Given the description of an element on the screen output the (x, y) to click on. 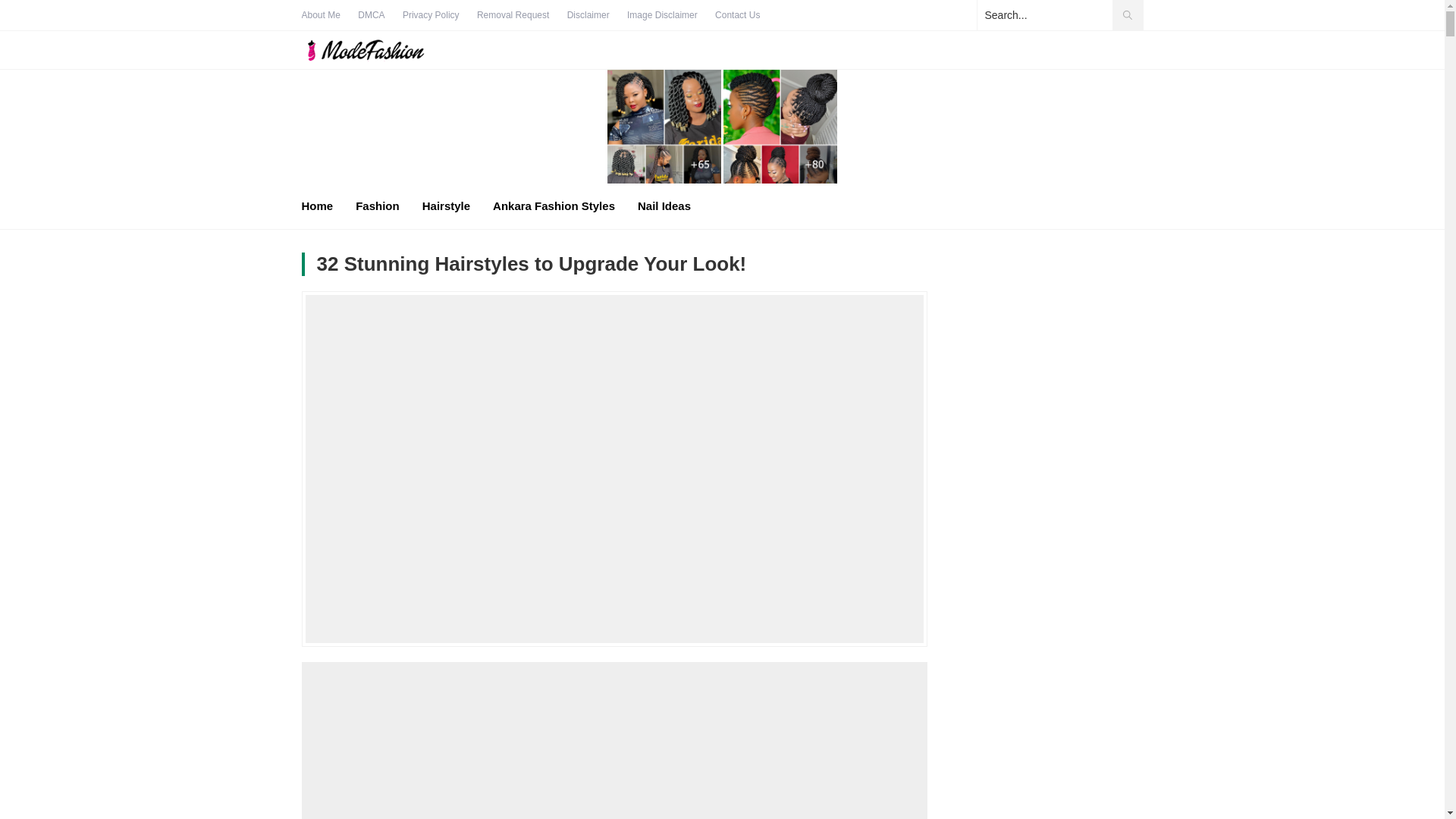
Image Disclaimer (662, 14)
Fashion (376, 206)
Disclaimer (588, 14)
Contact Us (737, 14)
About Me (320, 14)
Nail Ideas (663, 206)
Ankara Fashion Styles (553, 206)
Search... (1058, 15)
Hairstyle (446, 206)
Removal Request (512, 14)
Privacy Policy (431, 14)
Fashion Lifestyle Trends (381, 49)
DMCA (371, 14)
